Given the description of an element on the screen output the (x, y) to click on. 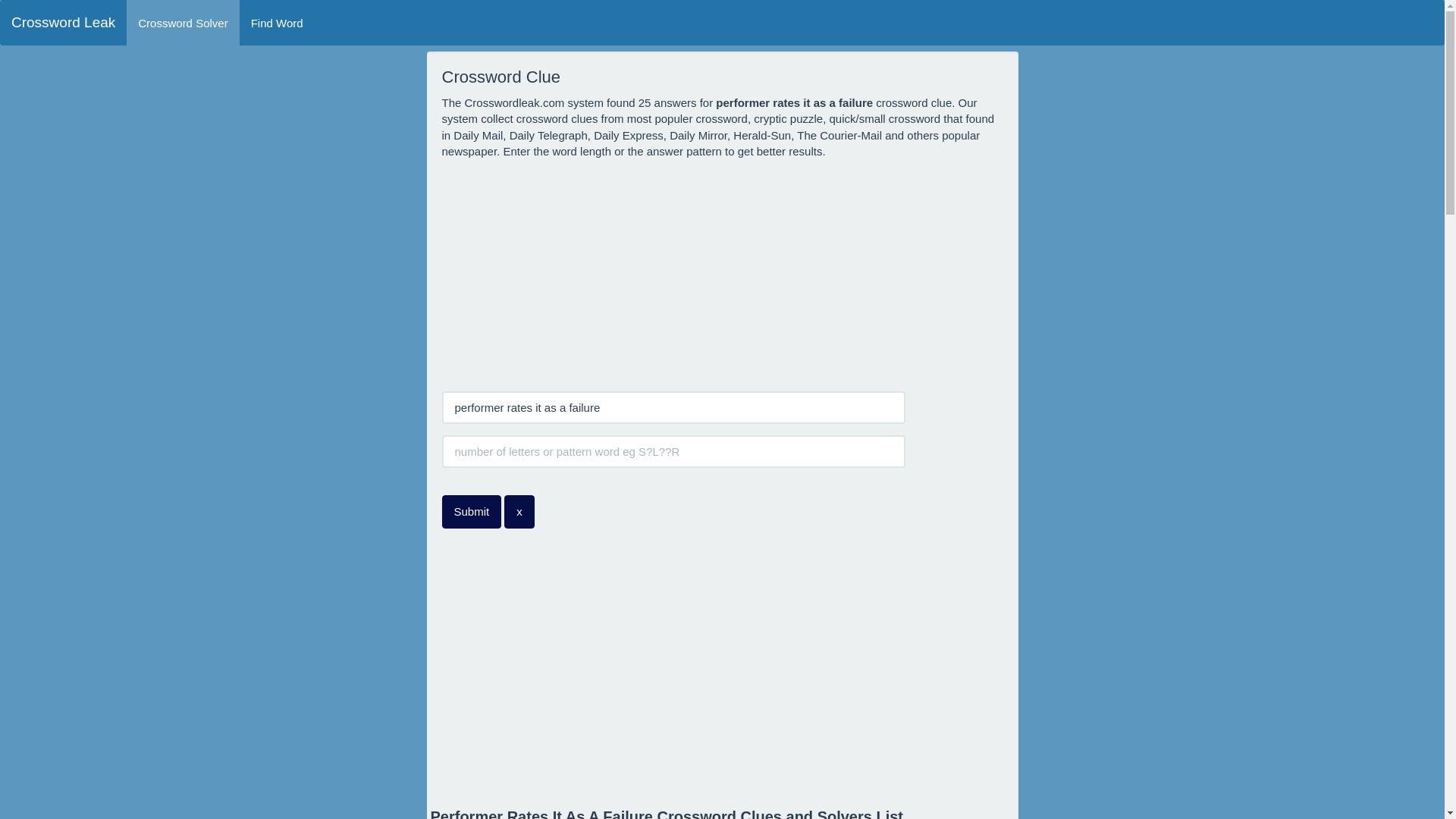
Submit (470, 511)
Crossword Solver (182, 22)
Crossword Leak (63, 22)
performer rates it as a failure (673, 407)
Advertisement (722, 273)
x (518, 511)
Advertisement (722, 669)
Find Word (277, 22)
